Given the description of an element on the screen output the (x, y) to click on. 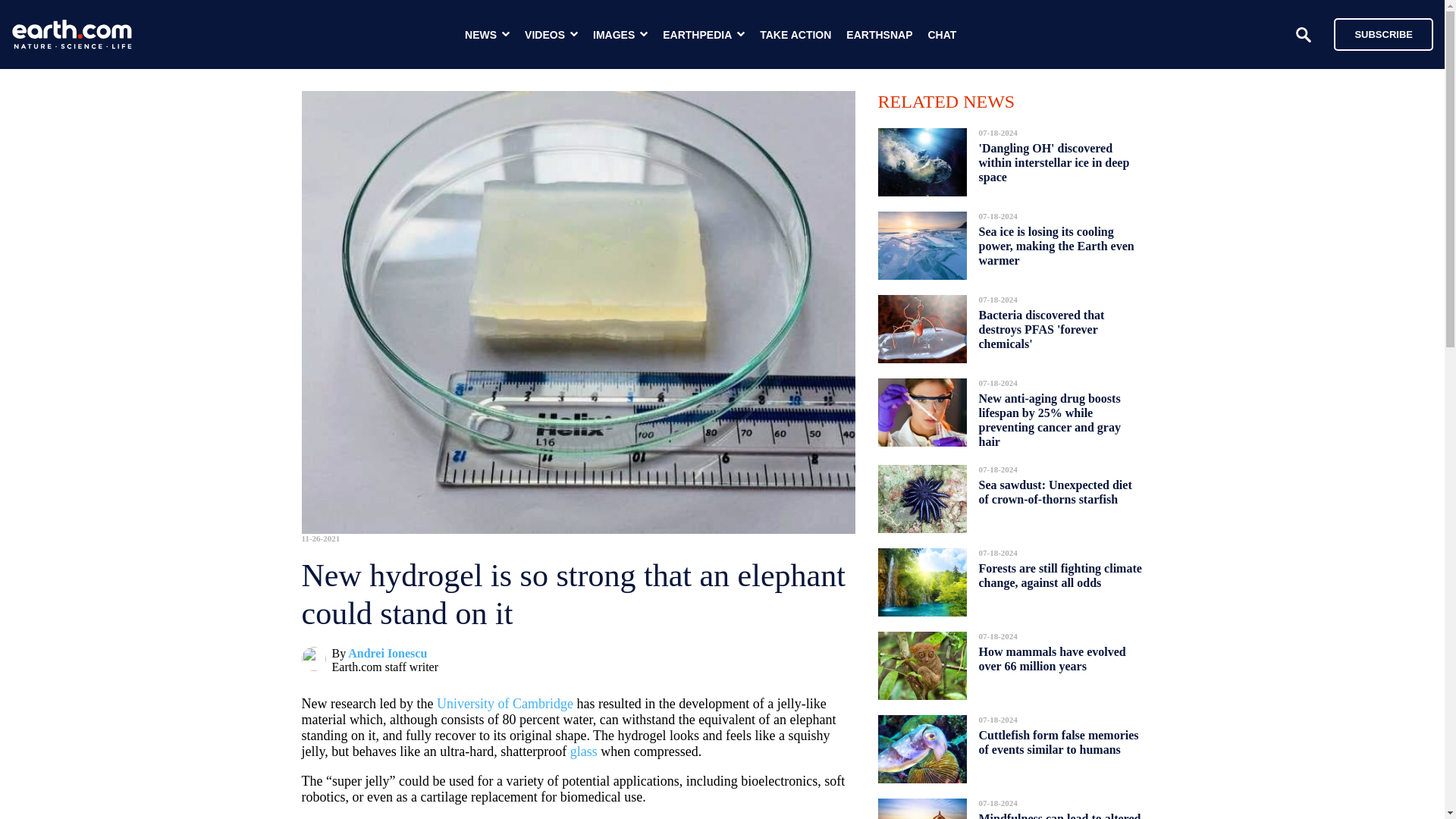
Mindfulness can lead to altered states of consciousness (1059, 811)
SUBSCRIBE (1382, 34)
Bacteria discovered that destroys PFAS 'forever chemicals' (1040, 329)
EARTHSNAP (878, 34)
CHAT (941, 34)
Forests are still fighting climate change, against all odds (1059, 575)
TAKE ACTION (795, 34)
glass (583, 751)
Andrei Ionescu (386, 653)
SUBSCRIBE (1375, 33)
University of Cambridge (504, 703)
Cuttlefish form false memories of events similar to humans (1058, 742)
How mammals have evolved over 66 million years (1051, 659)
